Given the description of an element on the screen output the (x, y) to click on. 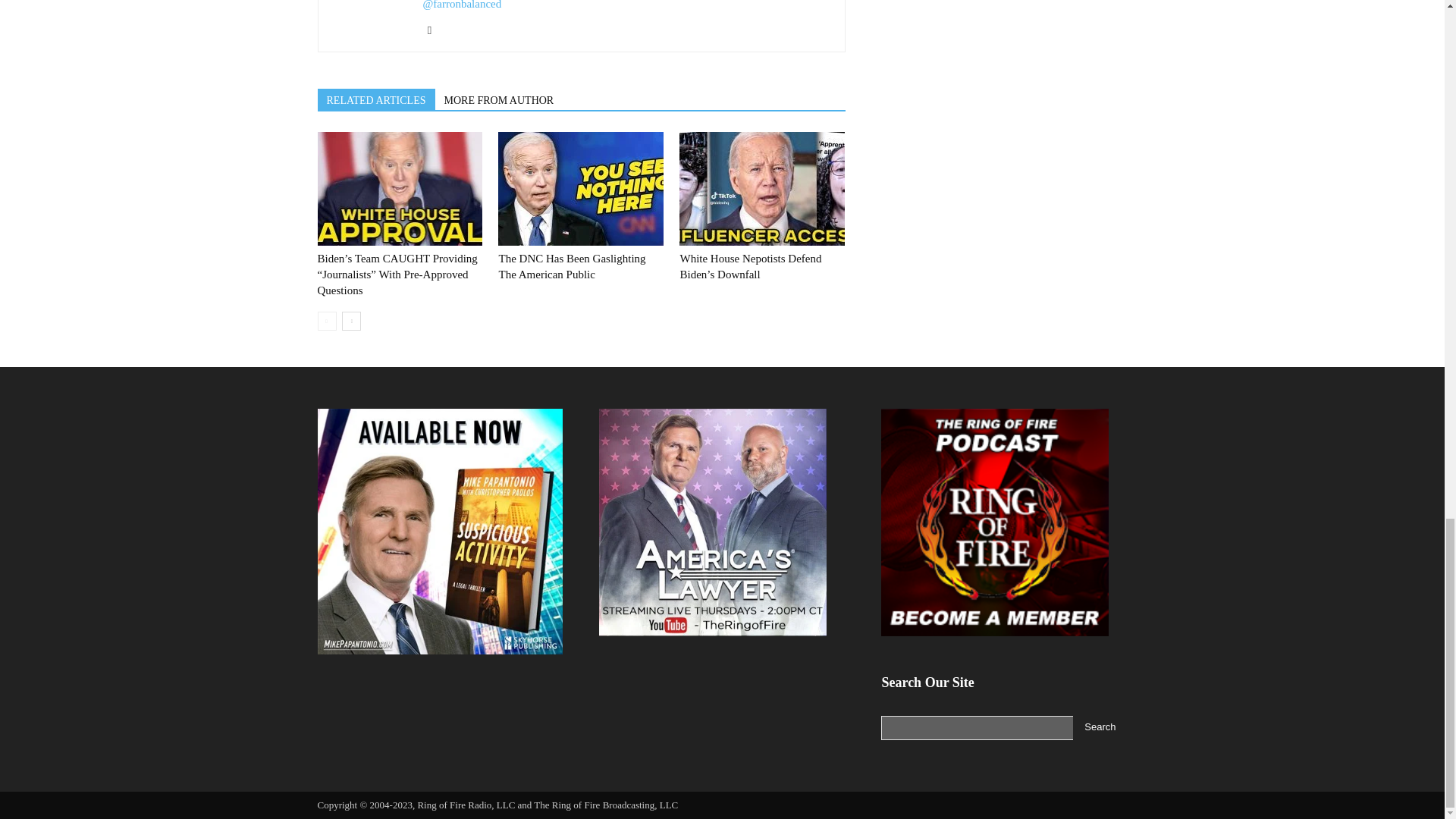
Search (1099, 727)
Twitter (435, 30)
